Given the description of an element on the screen output the (x, y) to click on. 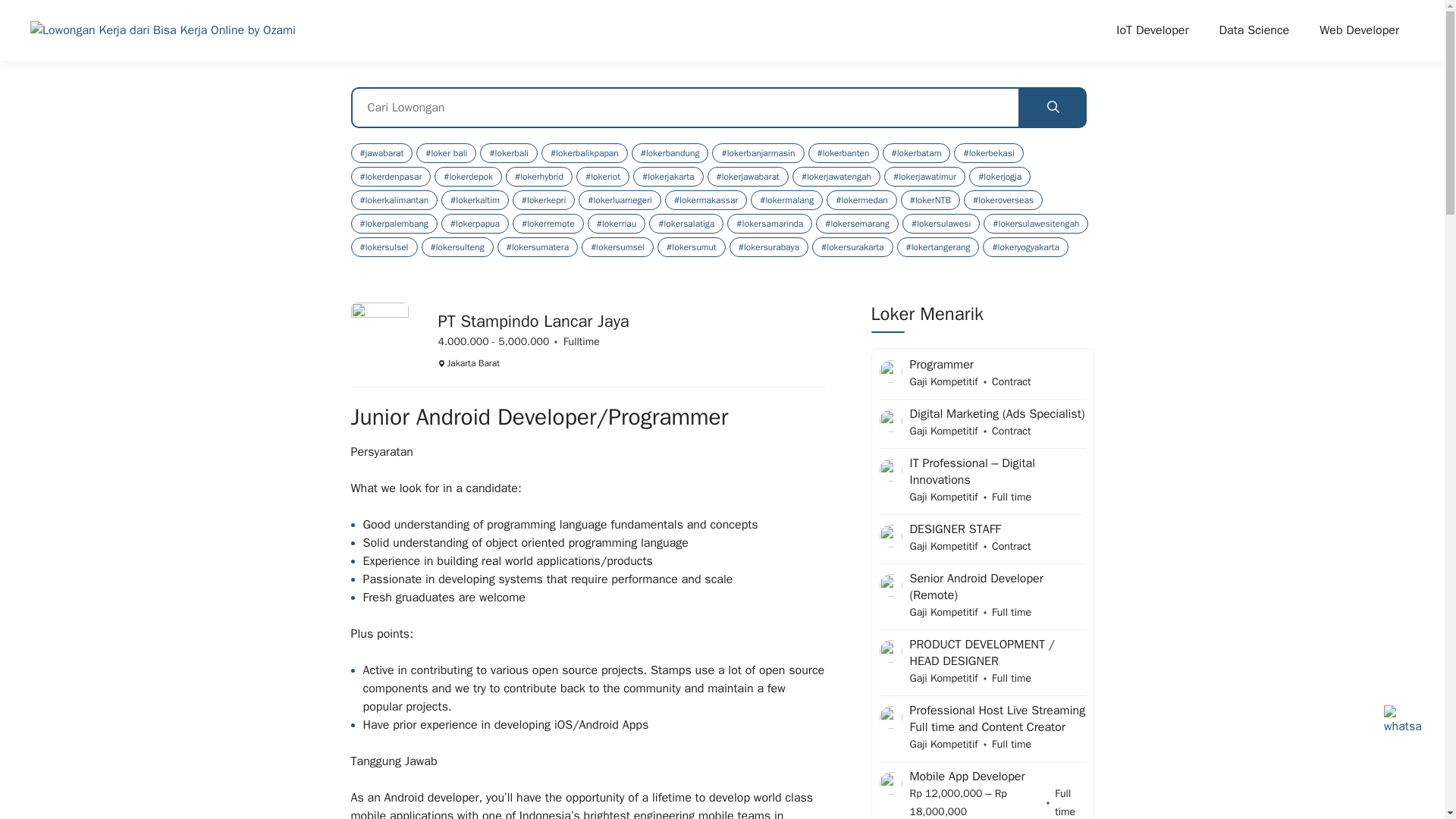
lokerjakarta (668, 176)
lokerbanten (843, 152)
lokerhybrid (538, 176)
IoT Developer (1152, 30)
lokerjawatimur (924, 176)
lokerkalimantan (394, 199)
lokerbali (508, 152)
lokerdepok (467, 176)
lokerluarnegeri (619, 199)
lokerjawabarat (748, 176)
